Given the description of an element on the screen output the (x, y) to click on. 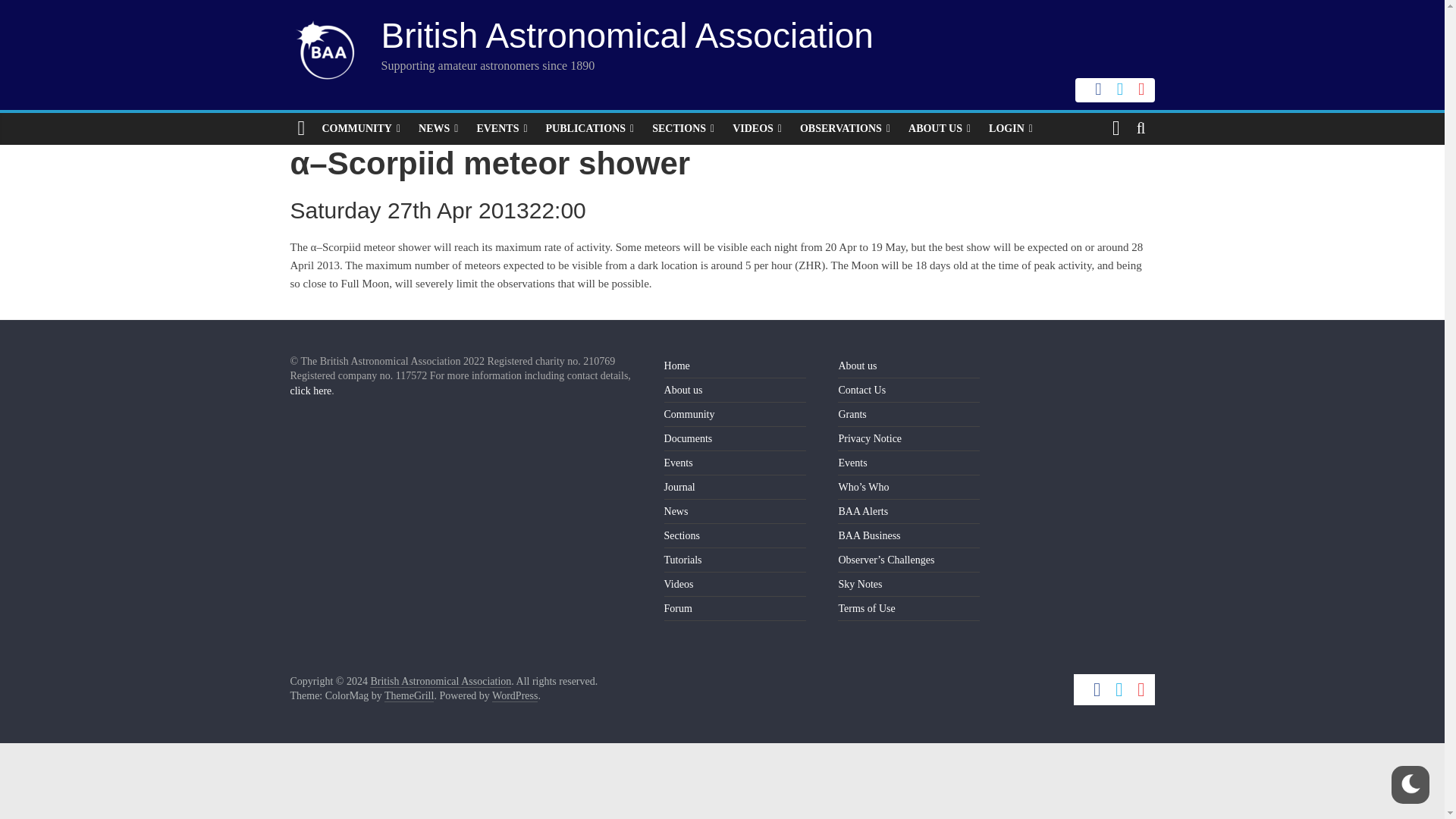
EVENTS (501, 128)
British Astronomical Association (626, 35)
PUBLICATIONS (590, 128)
NEWS (438, 128)
ThemeGrill (408, 695)
British Astronomical Association (626, 35)
British Astronomical Association (440, 681)
COMMUNITY (361, 128)
SECTIONS (683, 128)
WordPress (514, 695)
